Given the description of an element on the screen output the (x, y) to click on. 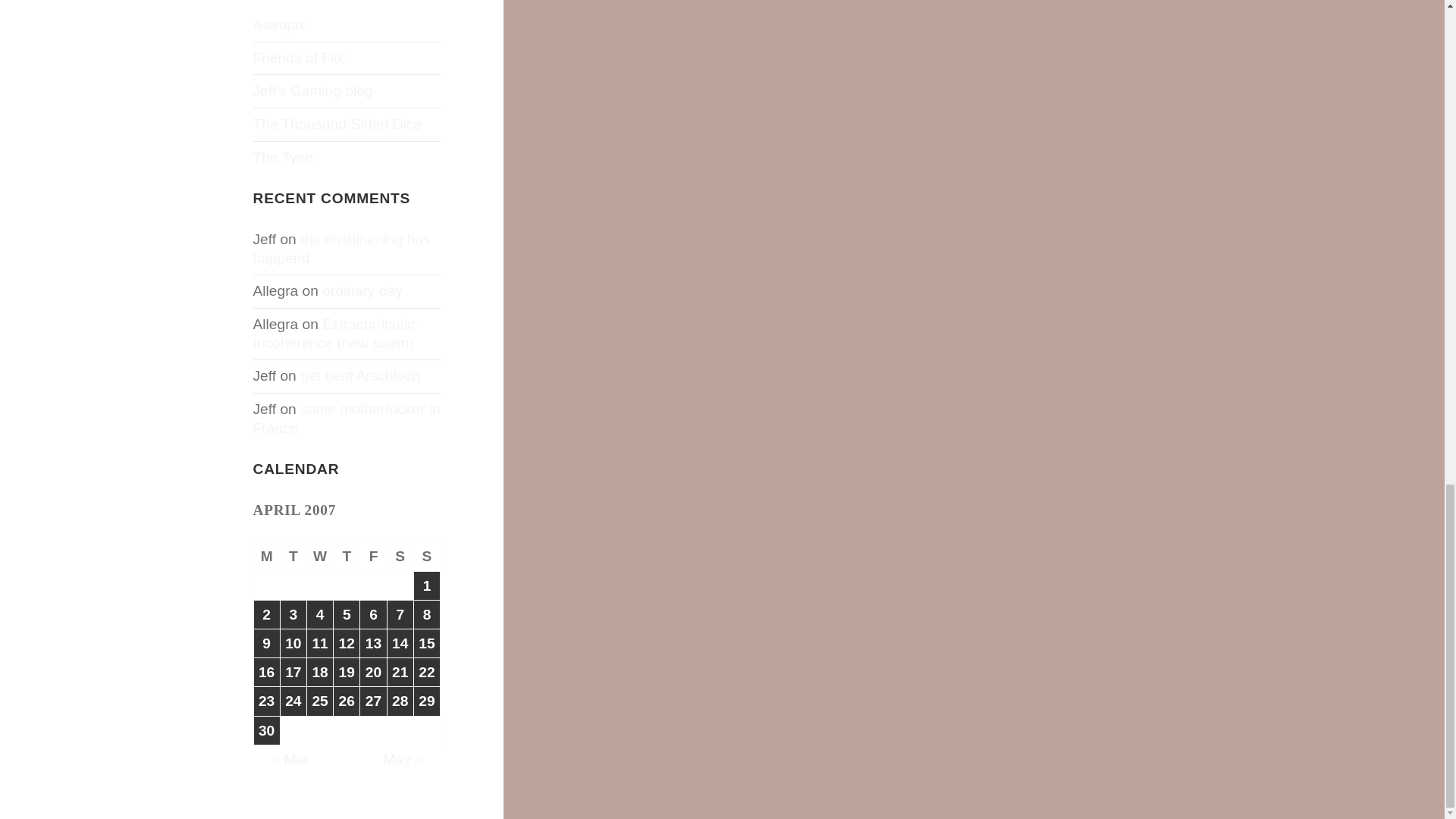
4 (320, 614)
Thursday (346, 556)
some motherfucker in France (347, 418)
The Thousand-Sided Dice (337, 123)
the enshinening has happend (341, 248)
get bent Arschloch (359, 375)
Monday (267, 556)
11 (320, 643)
6 (372, 614)
